Given the description of an element on the screen output the (x, y) to click on. 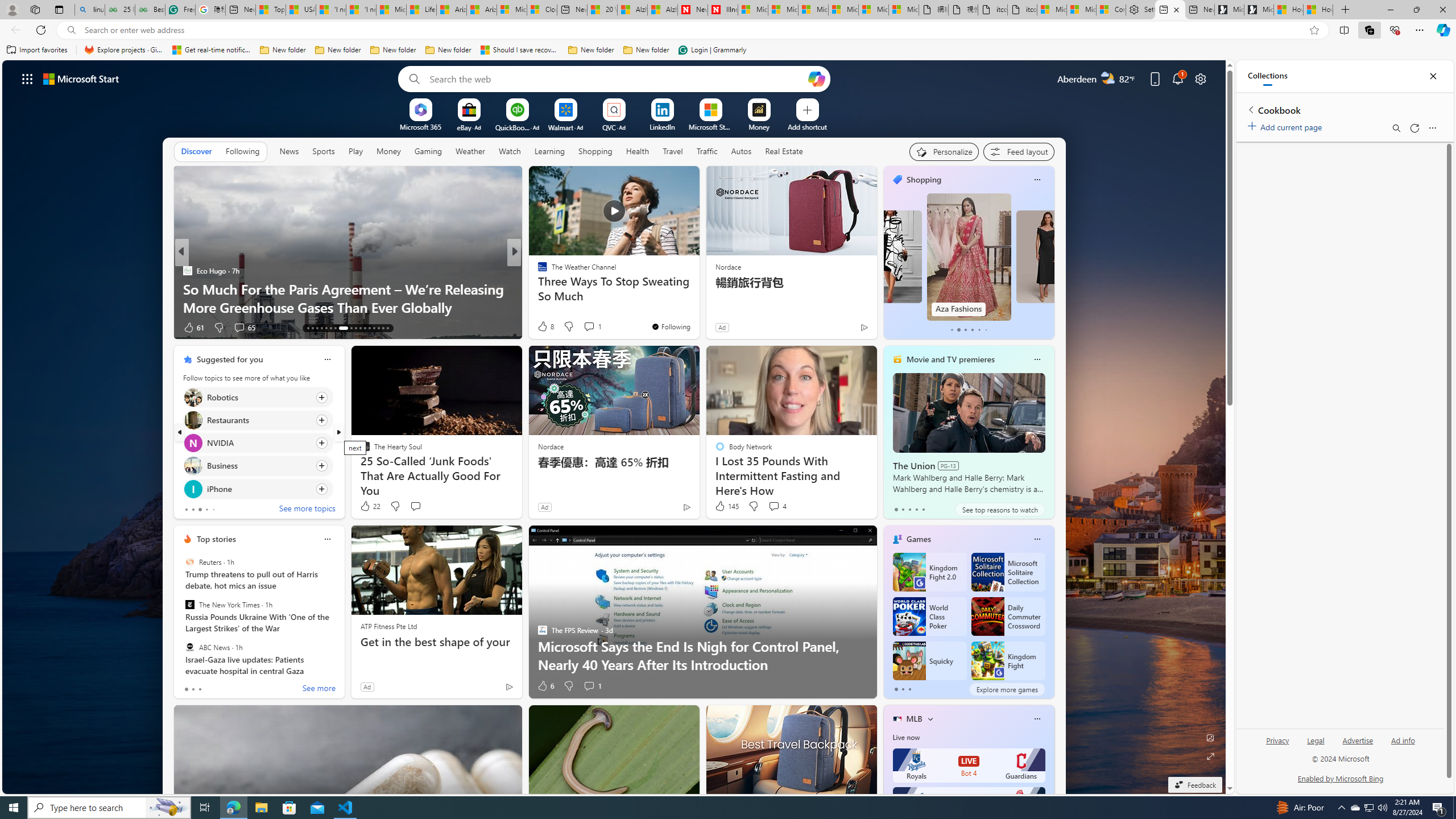
AutomationID: tab-28 (382, 328)
AutomationID: tab-20 (343, 328)
MLB (914, 718)
I Lost 100 Pounds by Eating the Meal I Love (697, 307)
AutomationID: tab-25 (368, 328)
61 Like (192, 327)
View comments 10 Comment (592, 327)
Royals LIVE Bot 4 Guardians (968, 765)
View comments 12 Comment (597, 327)
